Given the description of an element on the screen output the (x, y) to click on. 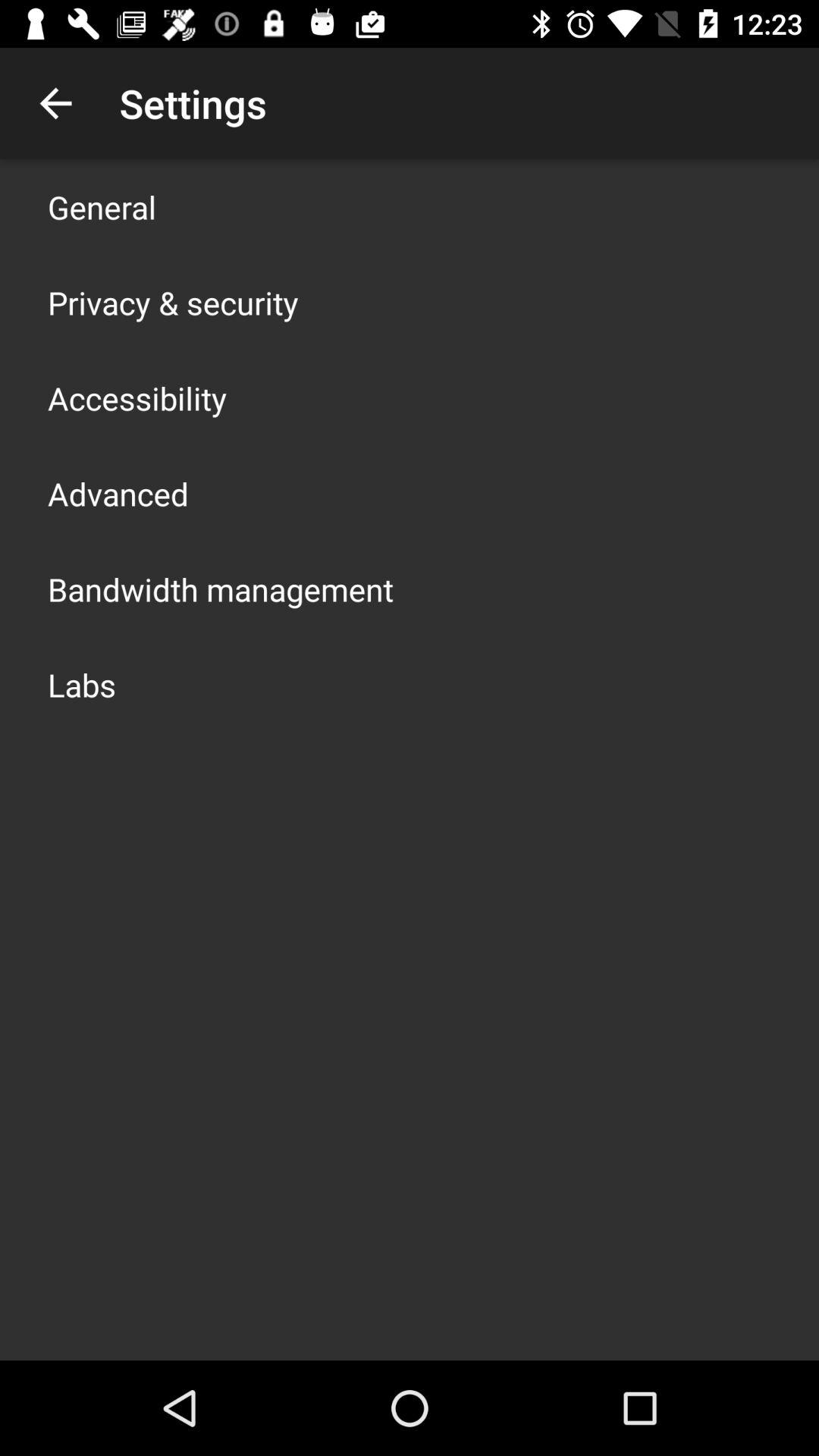
press icon above the advanced icon (136, 397)
